Given the description of an element on the screen output the (x, y) to click on. 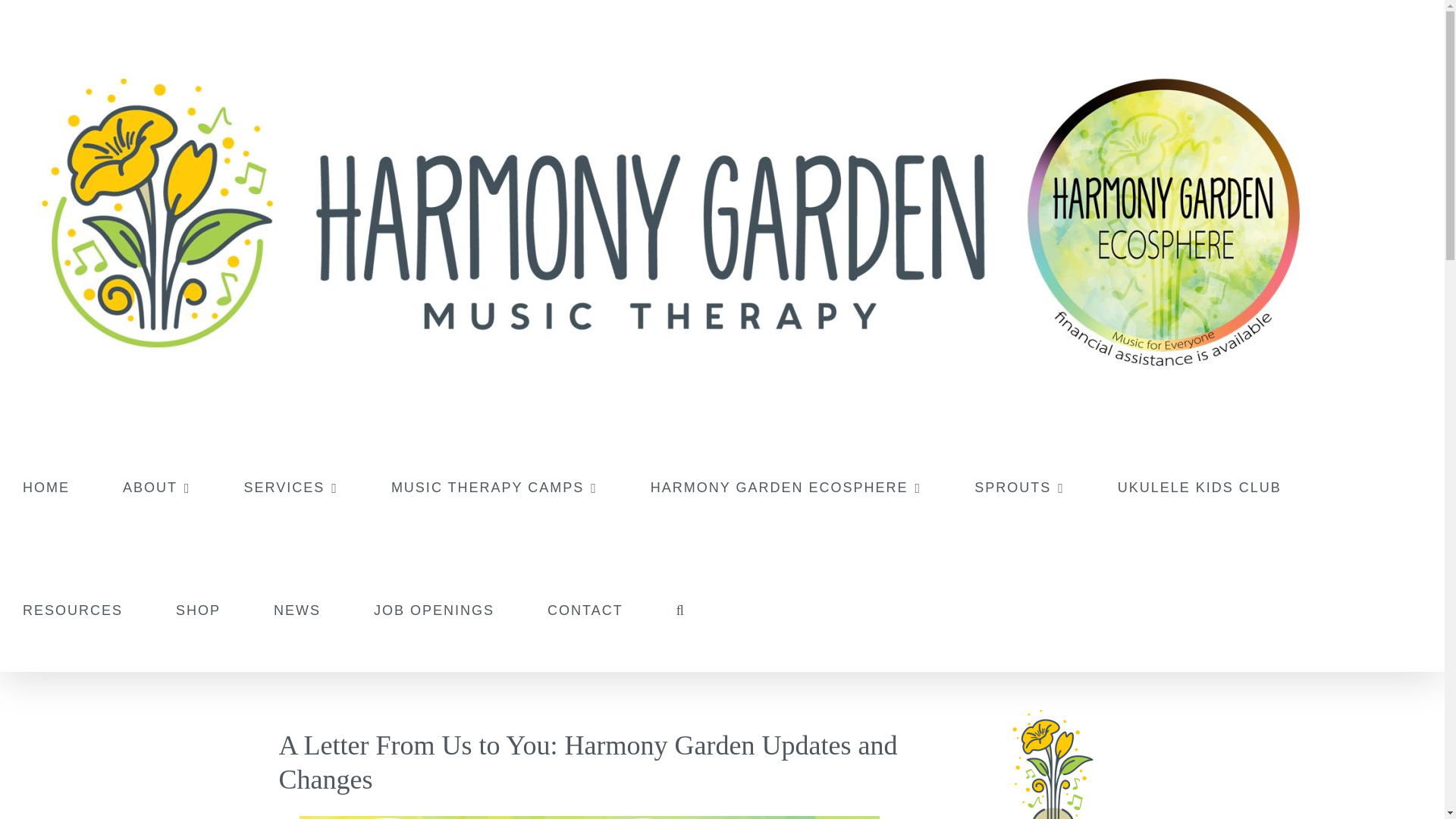
UKULELE KIDS CLUB (1199, 486)
MUSIC THERAPY CAMPS (493, 486)
JOB OPENINGS (434, 609)
HARMONY GARDEN ECOSPHERE (785, 486)
